Given the description of an element on the screen output the (x, y) to click on. 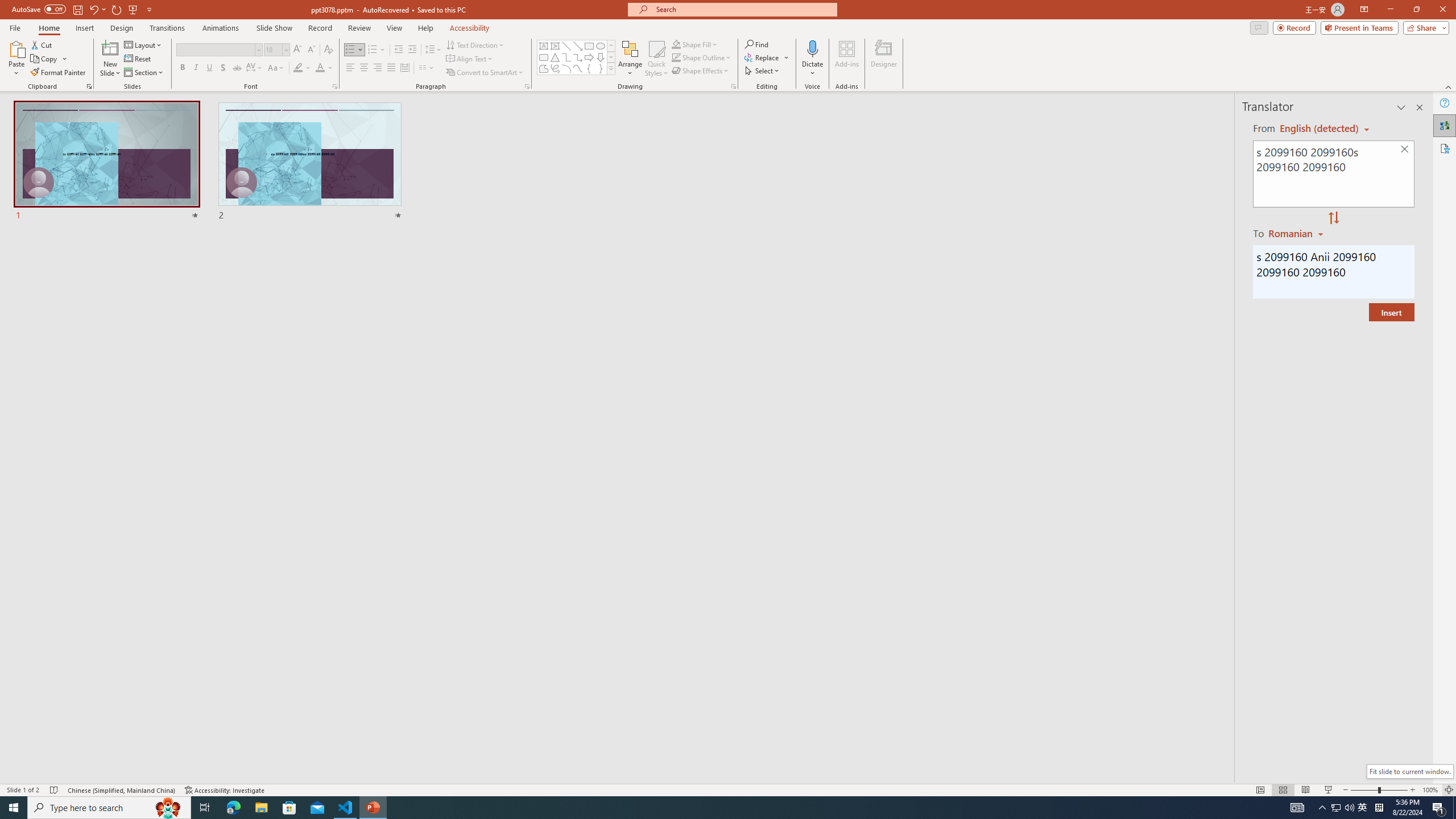
Justify (390, 67)
Rectangle (589, 45)
Translator (1444, 125)
Clear text (1404, 149)
Align Text (470, 58)
Shape Fill Dark Green, Accent 2 (675, 44)
